Given the description of an element on the screen output the (x, y) to click on. 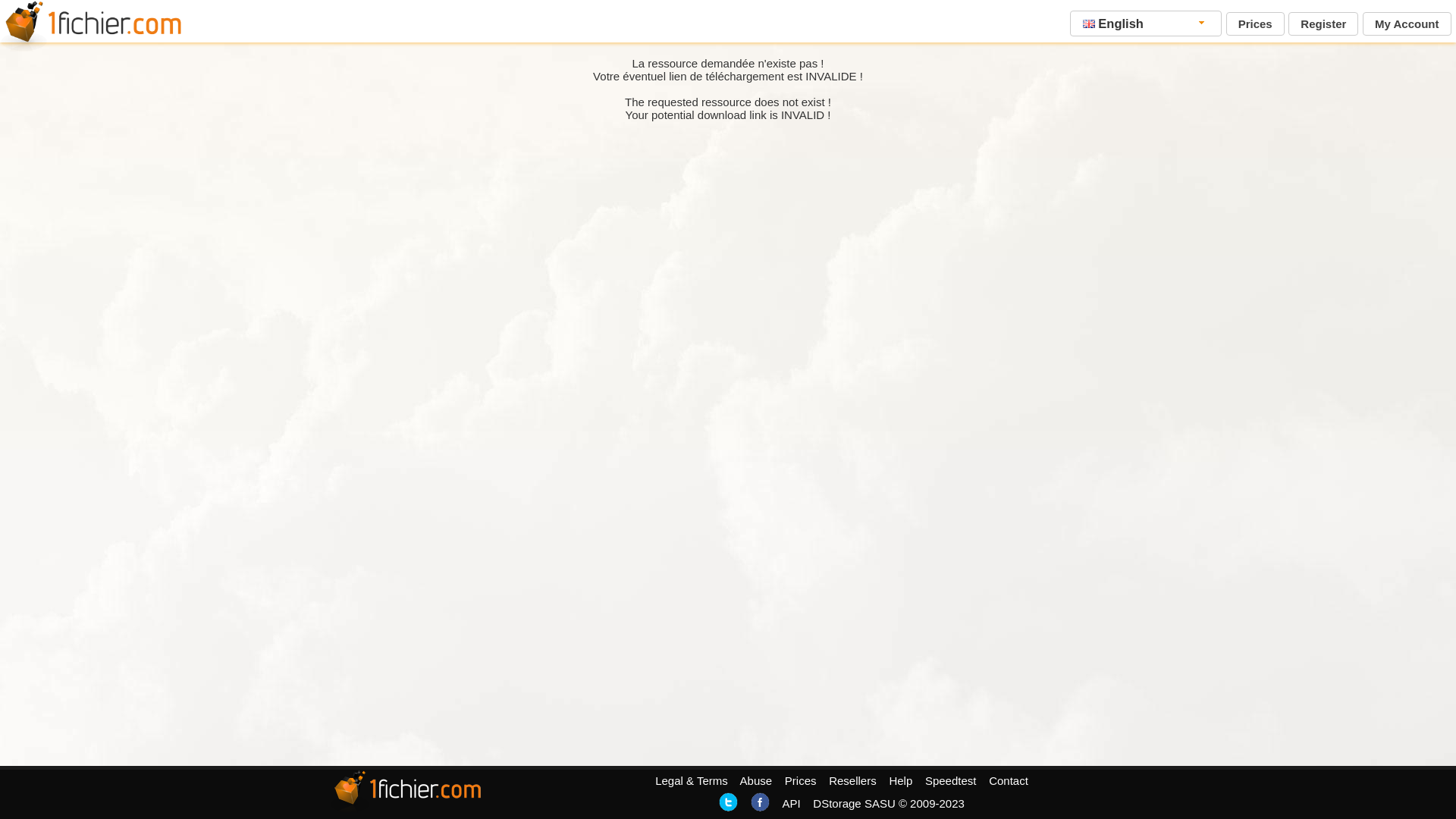
Resellers Element type: text (852, 780)
API Element type: text (790, 803)
Register Element type: text (1323, 23)
Legal & Terms Element type: text (691, 780)
My Account Element type: text (1406, 23)
Prices Element type: text (800, 780)
Help Element type: text (900, 780)
Prices Element type: text (1255, 23)
Speedtest Element type: text (950, 780)
Contact Element type: text (1008, 780)
Abuse Element type: text (756, 780)
